Given the description of an element on the screen output the (x, y) to click on. 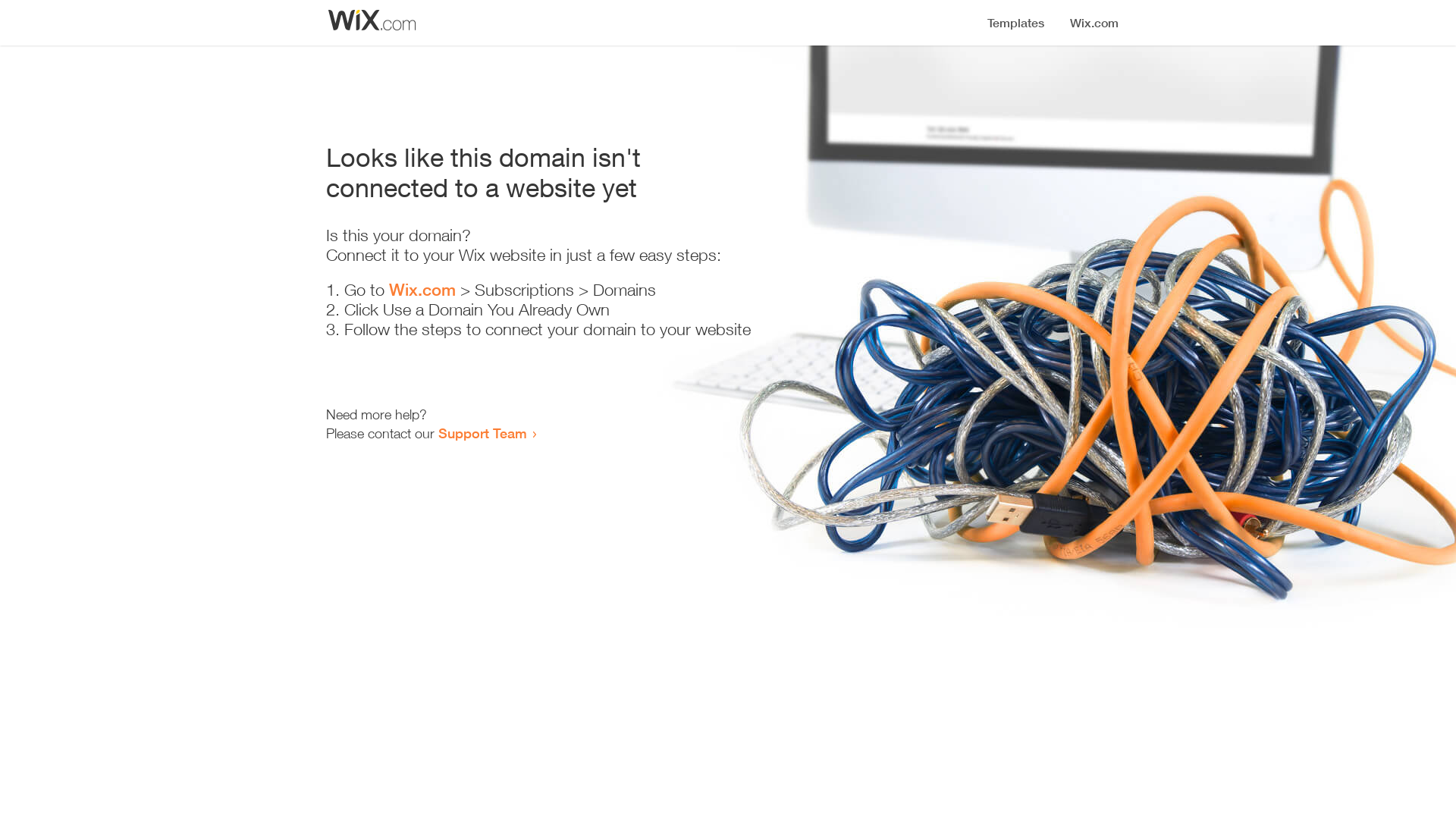
Wix.com Element type: text (422, 289)
Support Team Element type: text (482, 432)
